Given the description of an element on the screen output the (x, y) to click on. 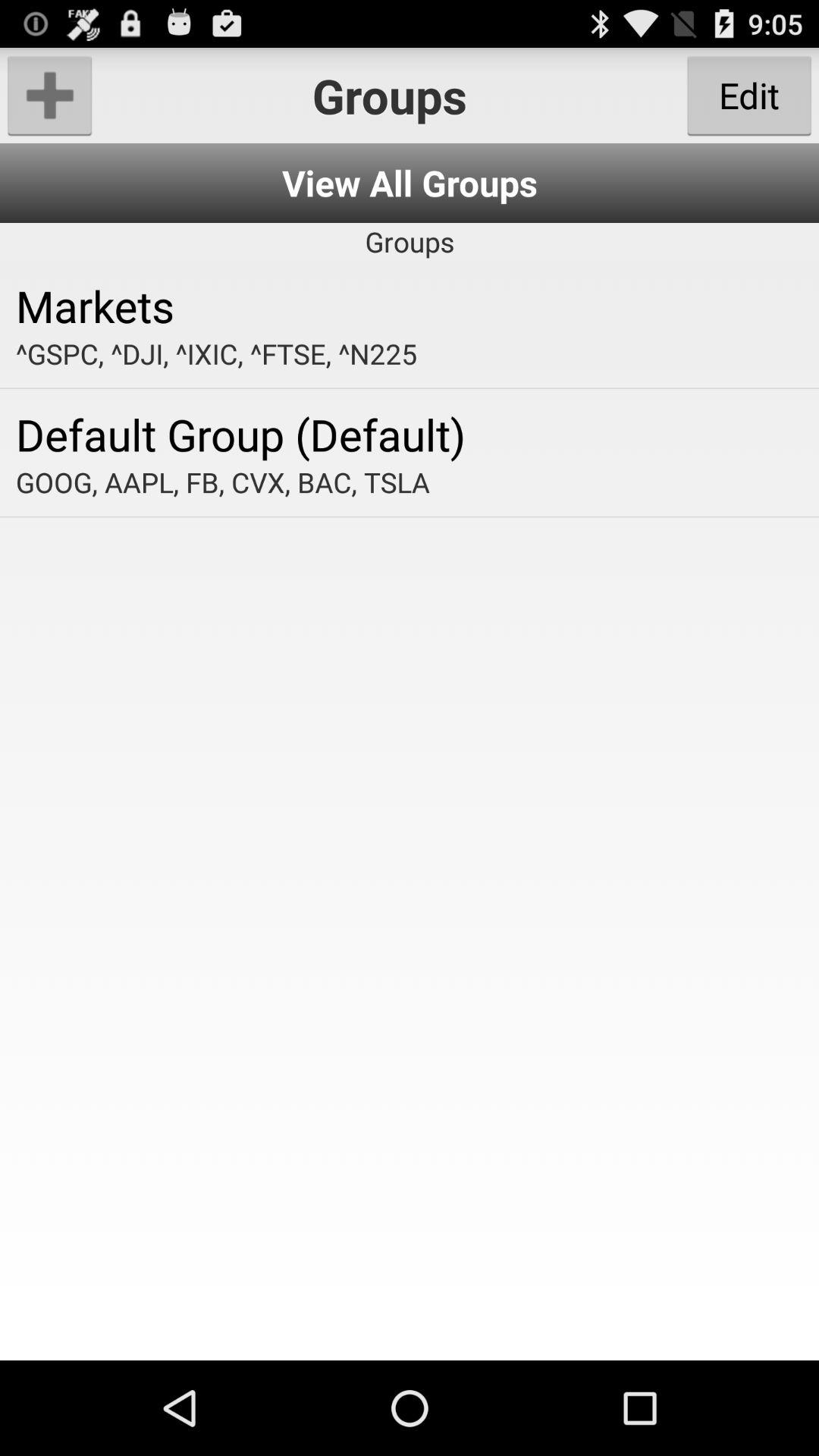
turn on the item below gspc dji ixic (409, 433)
